Given the description of an element on the screen output the (x, y) to click on. 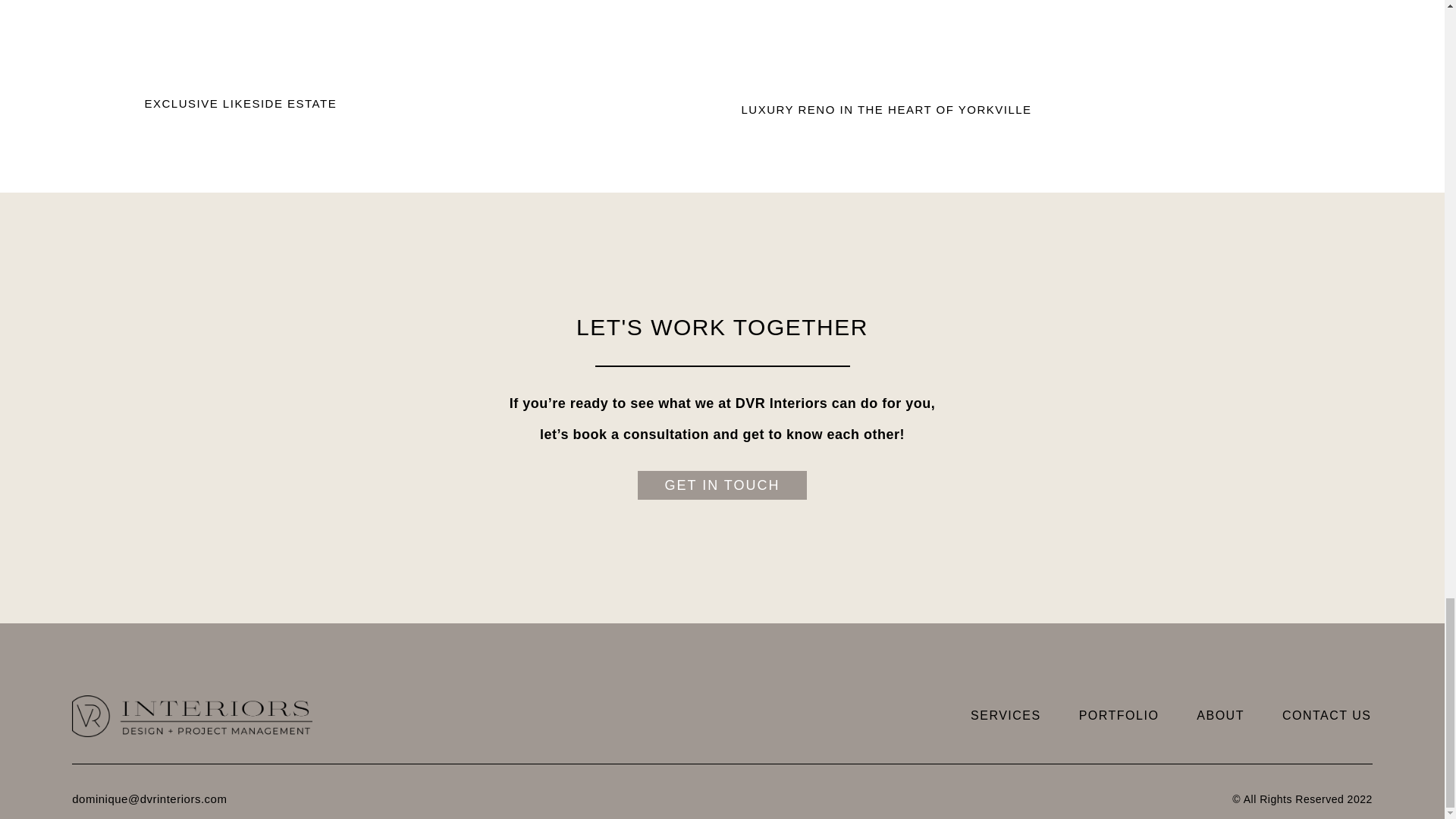
LUXURY RENO IN THE HEART OF YORKVILLE (886, 109)
SERVICES (1006, 715)
EXCLUSIVE LIKESIDE ESTATE (240, 103)
CONTACT US (1326, 715)
GET IN TOUCH (721, 484)
PORTFOLIO (1118, 715)
ABOUT (1220, 715)
